Given the description of an element on the screen output the (x, y) to click on. 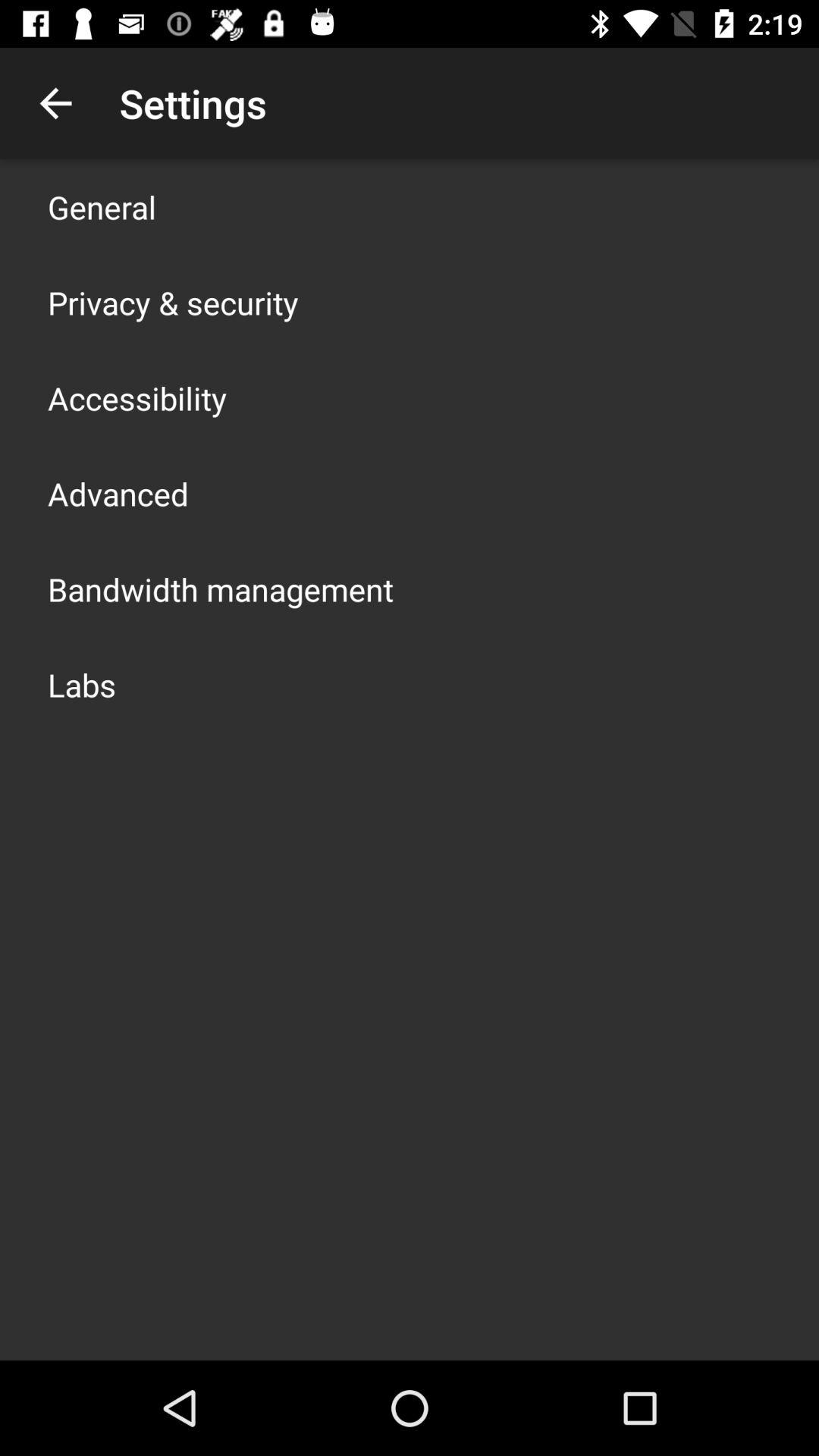
flip until the accessibility app (136, 397)
